Given the description of an element on the screen output the (x, y) to click on. 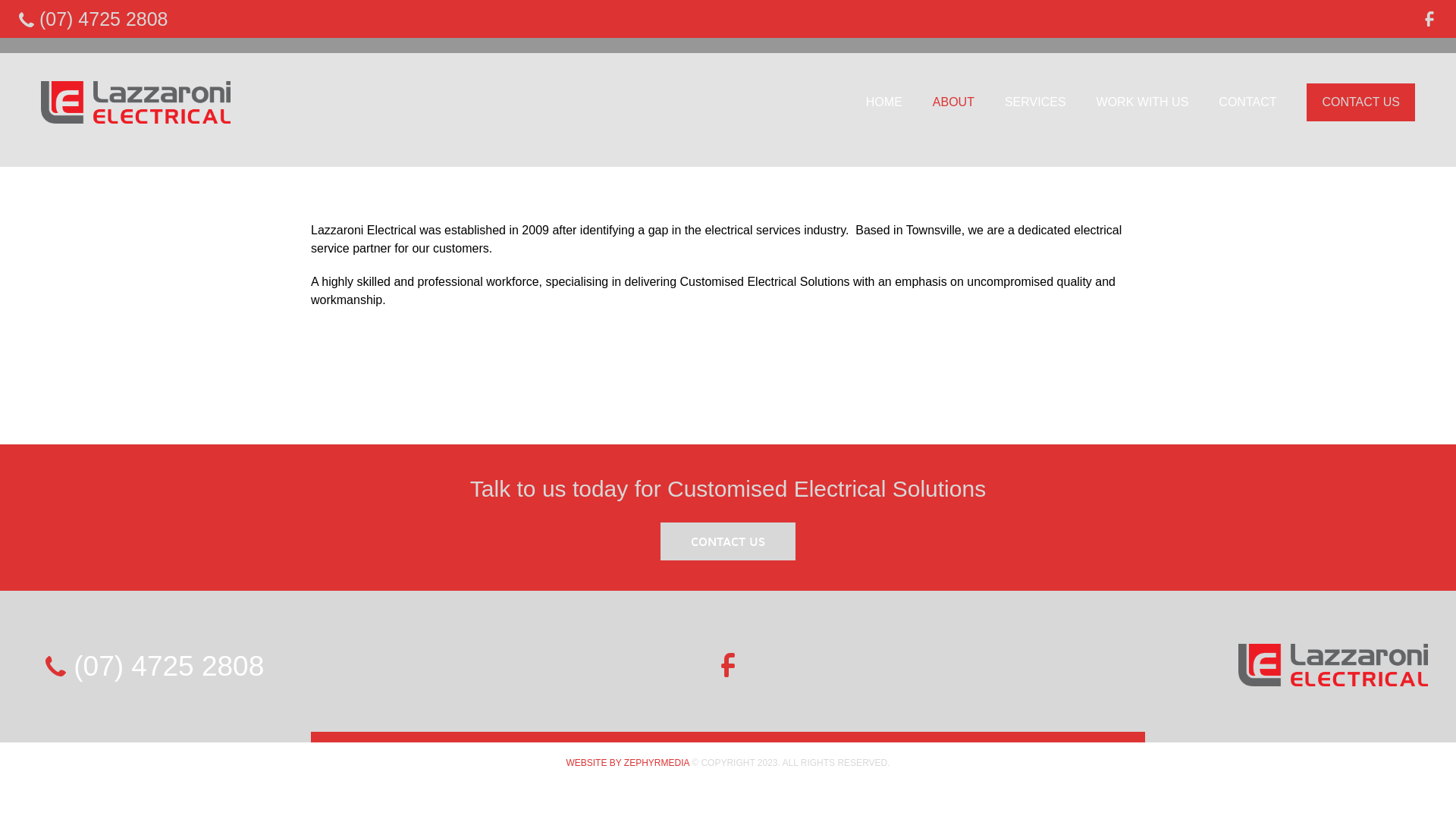
SERVICES Element type: text (1035, 101)
CONTACT Element type: text (1247, 101)
WEBSITE BY ZEPHYRMEDIA Element type: text (626, 761)
HOME Element type: text (883, 101)
(07) 4725 2808 Element type: text (154, 665)
(07) 4725 2808 Element type: text (93, 18)
WORK WITH US Element type: text (1142, 101)
CONTACT US Element type: text (727, 540)
CONTACT US Element type: text (1360, 102)
ABOUT Element type: text (953, 101)
